Given the description of an element on the screen output the (x, y) to click on. 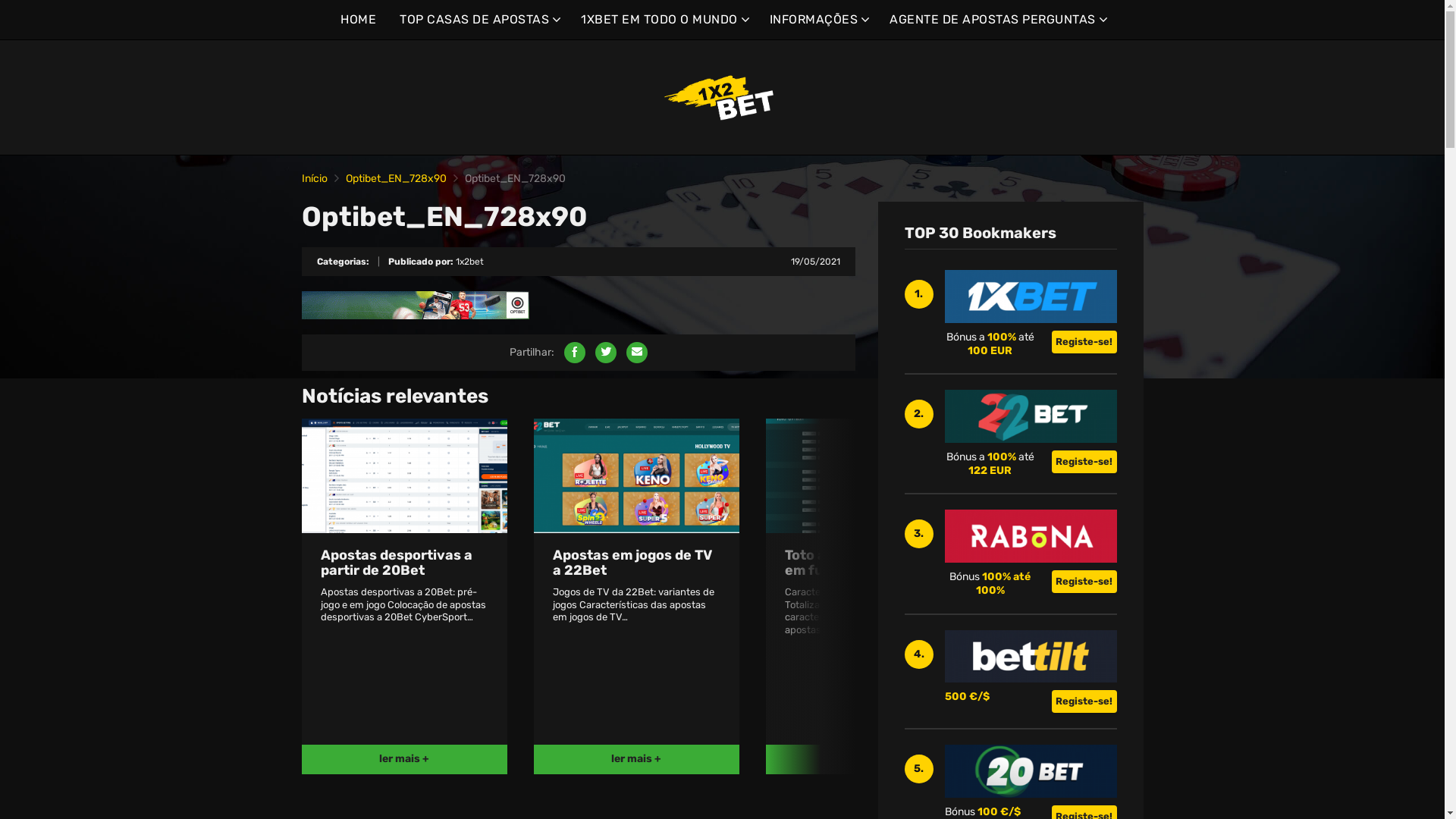
1XBET EM TODO O MUNDO Element type: text (663, 19)
HOME Element type: text (358, 19)
Registe-se! Element type: text (1083, 461)
Share on Twitter Element type: hover (604, 352)
ler mais + Element type: text (636, 759)
Registe-se! Element type: text (1083, 701)
ler mais + Element type: text (868, 759)
AGENTE DE APOSTAS PERGUNTAS Element type: text (996, 19)
Optibet_EN_728x90 Element type: text (395, 178)
ler mais + Element type: text (404, 759)
Share on Facebook Element type: hover (574, 352)
Registe-se! Element type: text (1083, 581)
TOP CASAS DE APOSTAS Element type: text (478, 19)
Registe-se! Element type: text (1083, 341)
Share by email Element type: hover (636, 352)
